Given the description of an element on the screen output the (x, y) to click on. 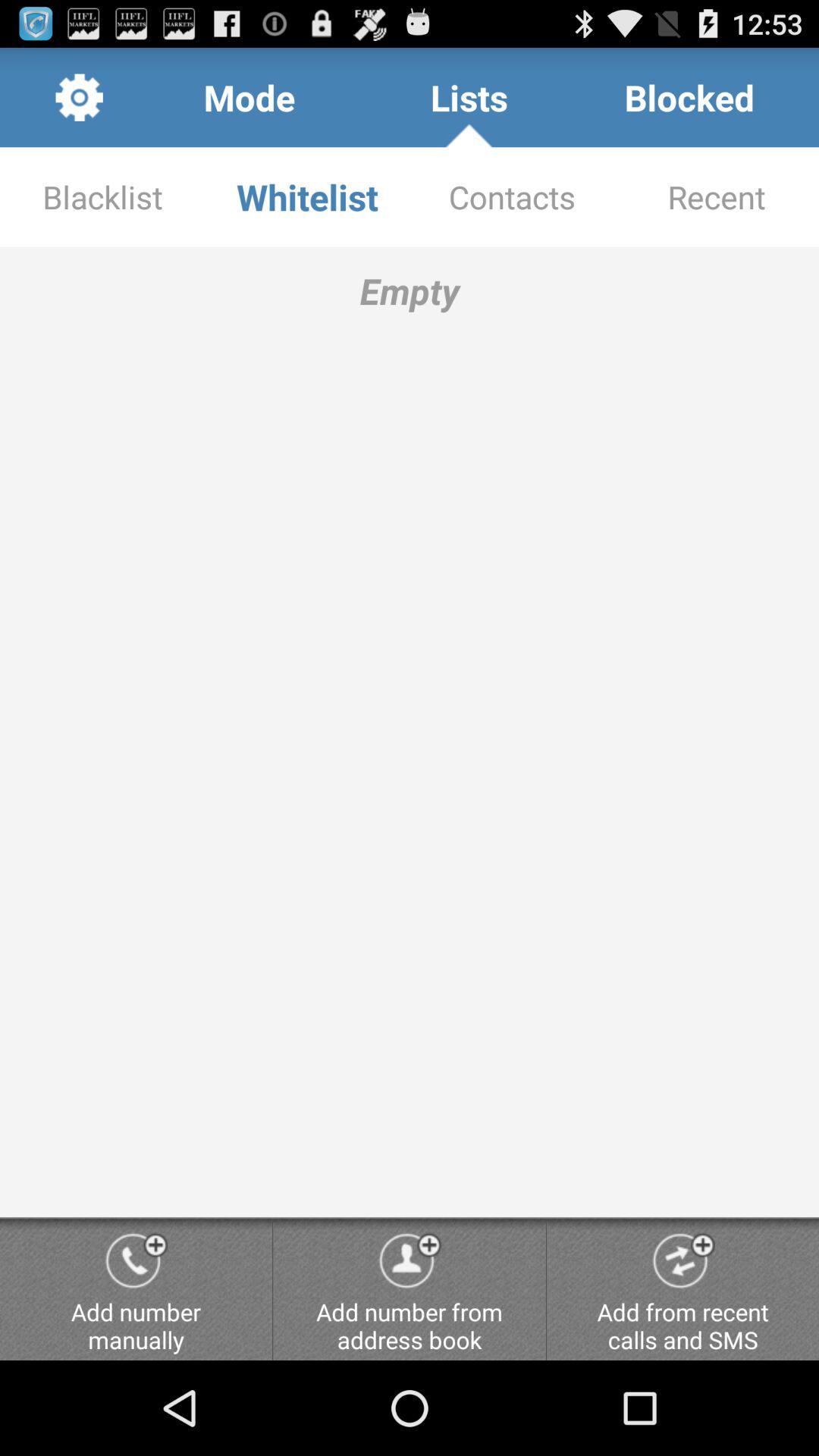
press mode app (249, 97)
